Given the description of an element on the screen output the (x, y) to click on. 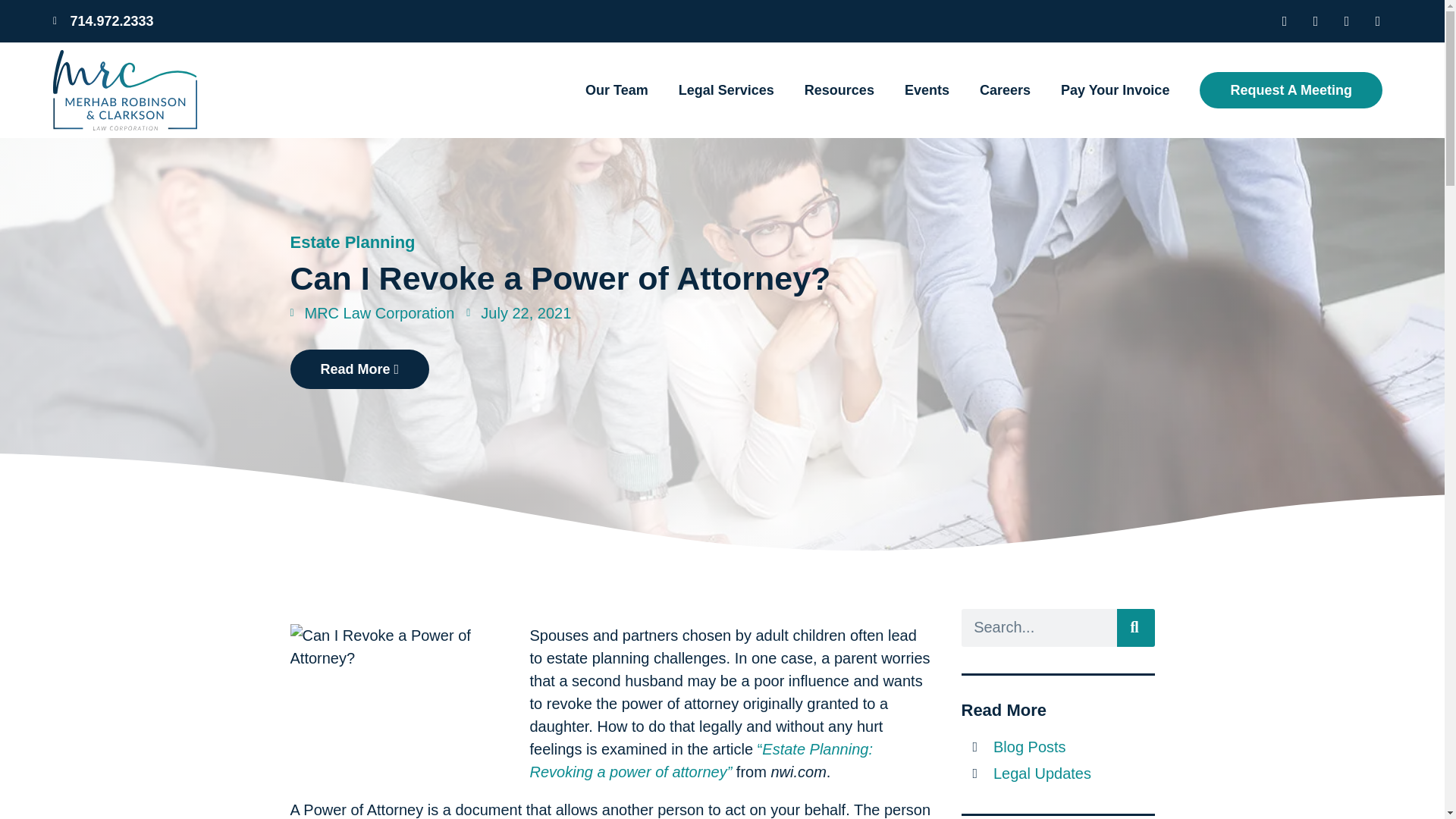
Legal Services (726, 90)
714.972.2333 (383, 21)
Our Team (616, 90)
